Given the description of an element on the screen output the (x, y) to click on. 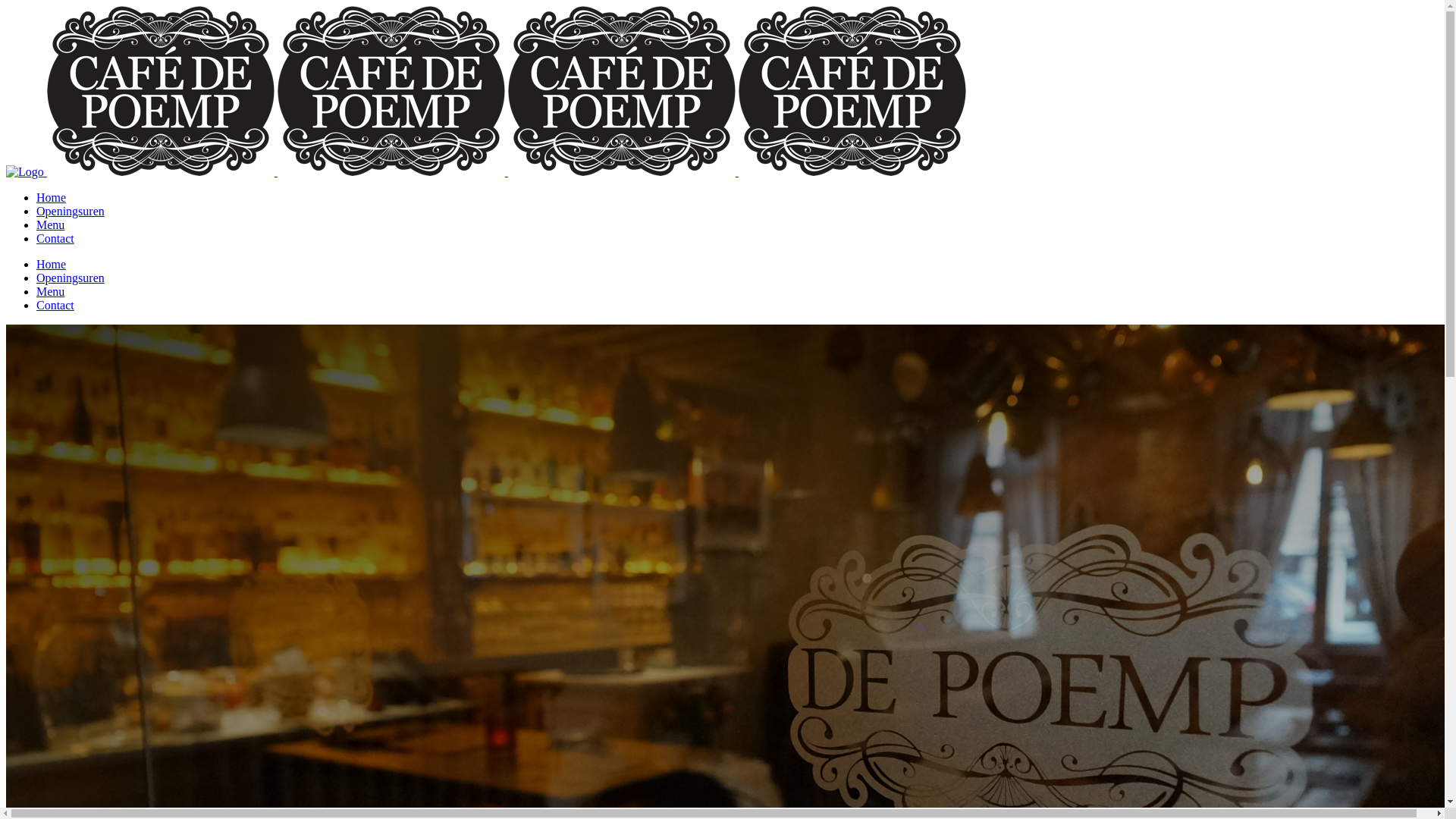
Menu Element type: text (50, 291)
Openingsuren Element type: text (70, 277)
Contact Element type: text (55, 304)
Home Element type: text (50, 197)
Openingsuren Element type: text (70, 210)
Contact Element type: text (55, 238)
Home Element type: text (50, 263)
Menu Element type: text (50, 224)
